Given the description of an element on the screen output the (x, y) to click on. 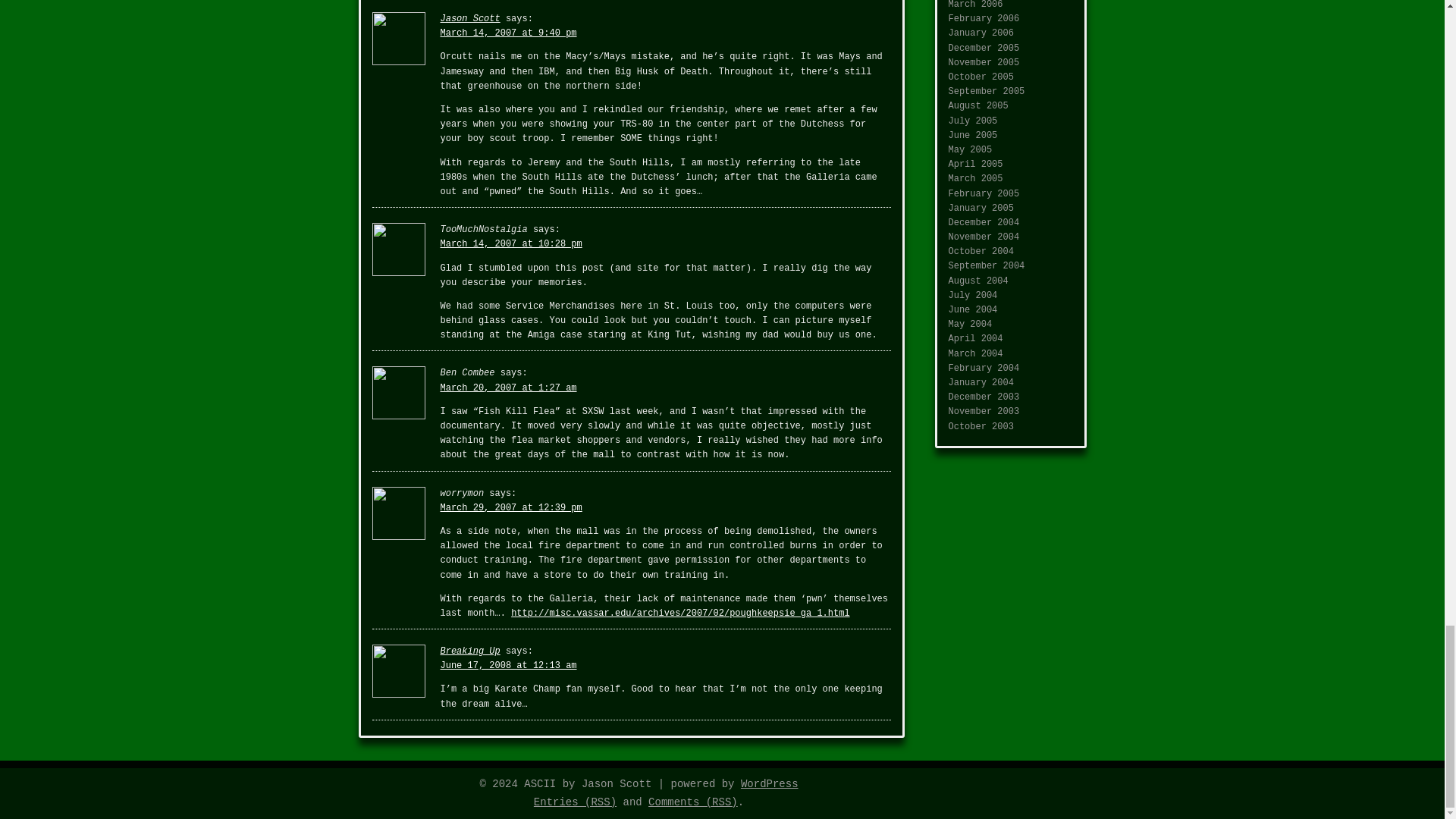
March 14, 2007 at 10:28 pm (509, 244)
March 14, 2007 at 9:40 pm (507, 32)
March 29, 2007 at 12:39 pm (509, 507)
Jason Scott (469, 18)
March 20, 2007 at 1:27 am (507, 388)
Breaking Up (469, 651)
June 17, 2008 at 12:13 am (507, 665)
